Given the description of an element on the screen output the (x, y) to click on. 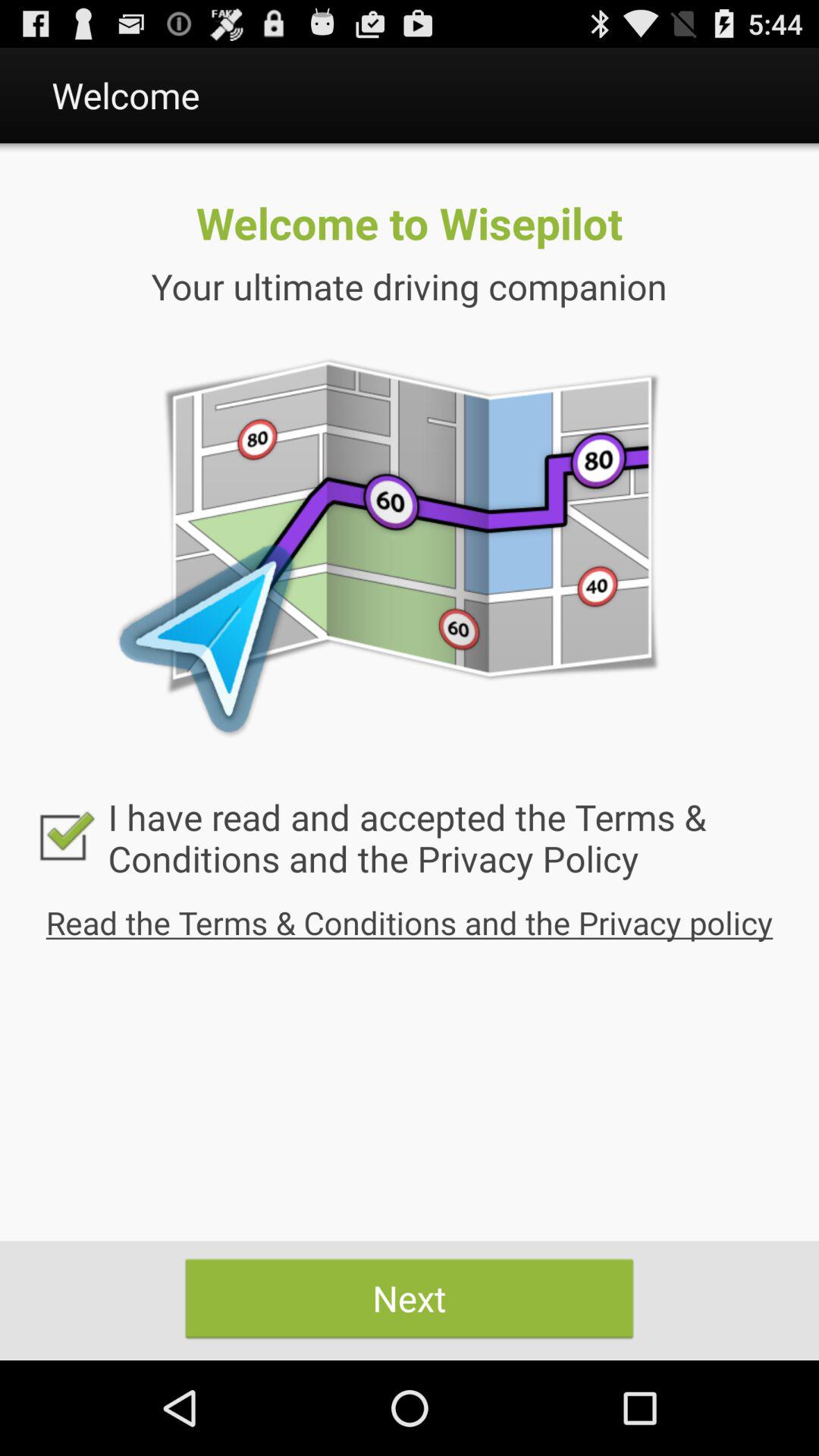
choose the next item (409, 1298)
